Given the description of an element on the screen output the (x, y) to click on. 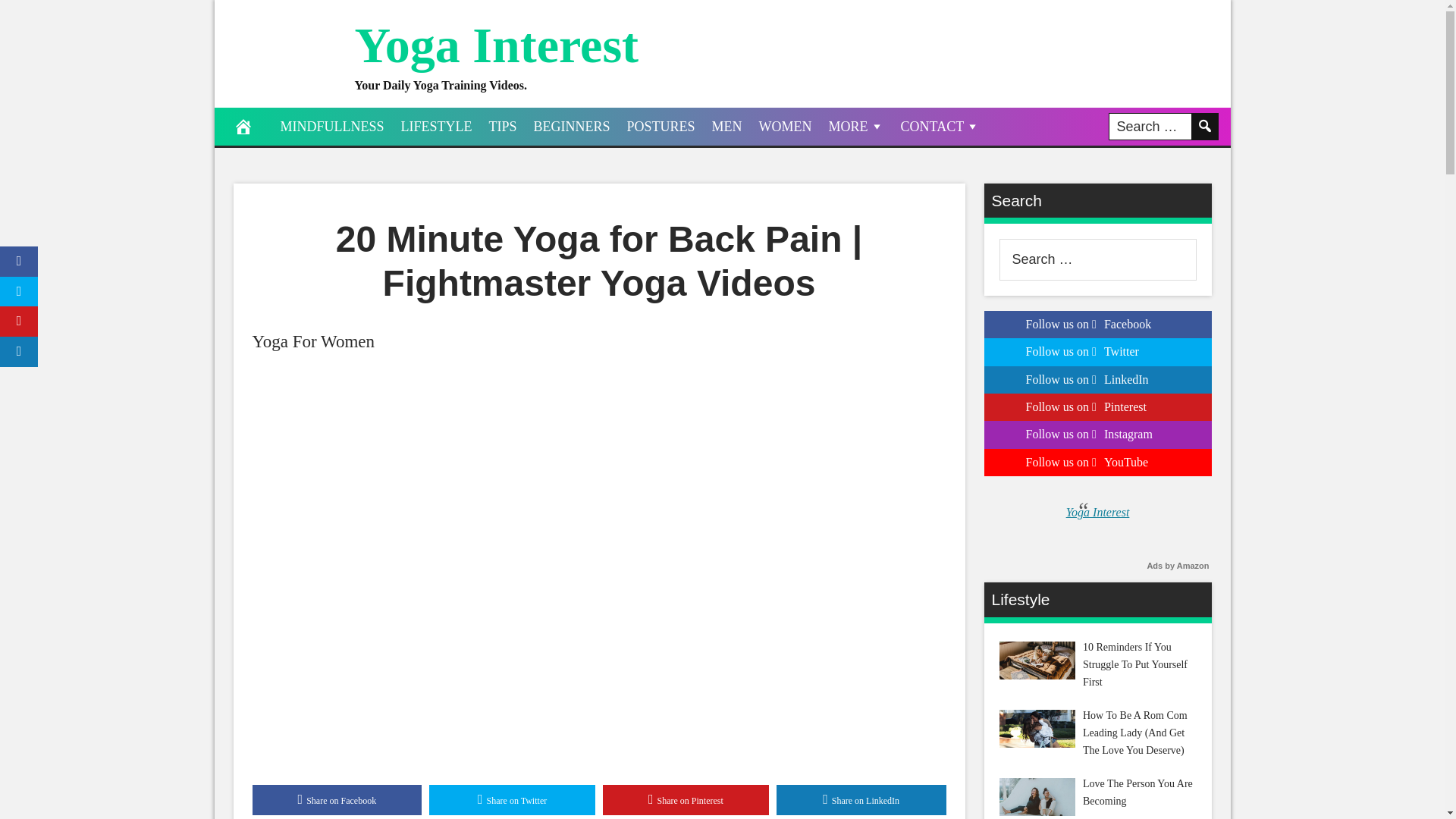
Yoga For Women (312, 341)
MORE (856, 126)
MEN (727, 126)
POSTURES (660, 126)
CONTACT (940, 126)
TIPS (502, 126)
BEGINNERS (571, 126)
